Given the description of an element on the screen output the (x, y) to click on. 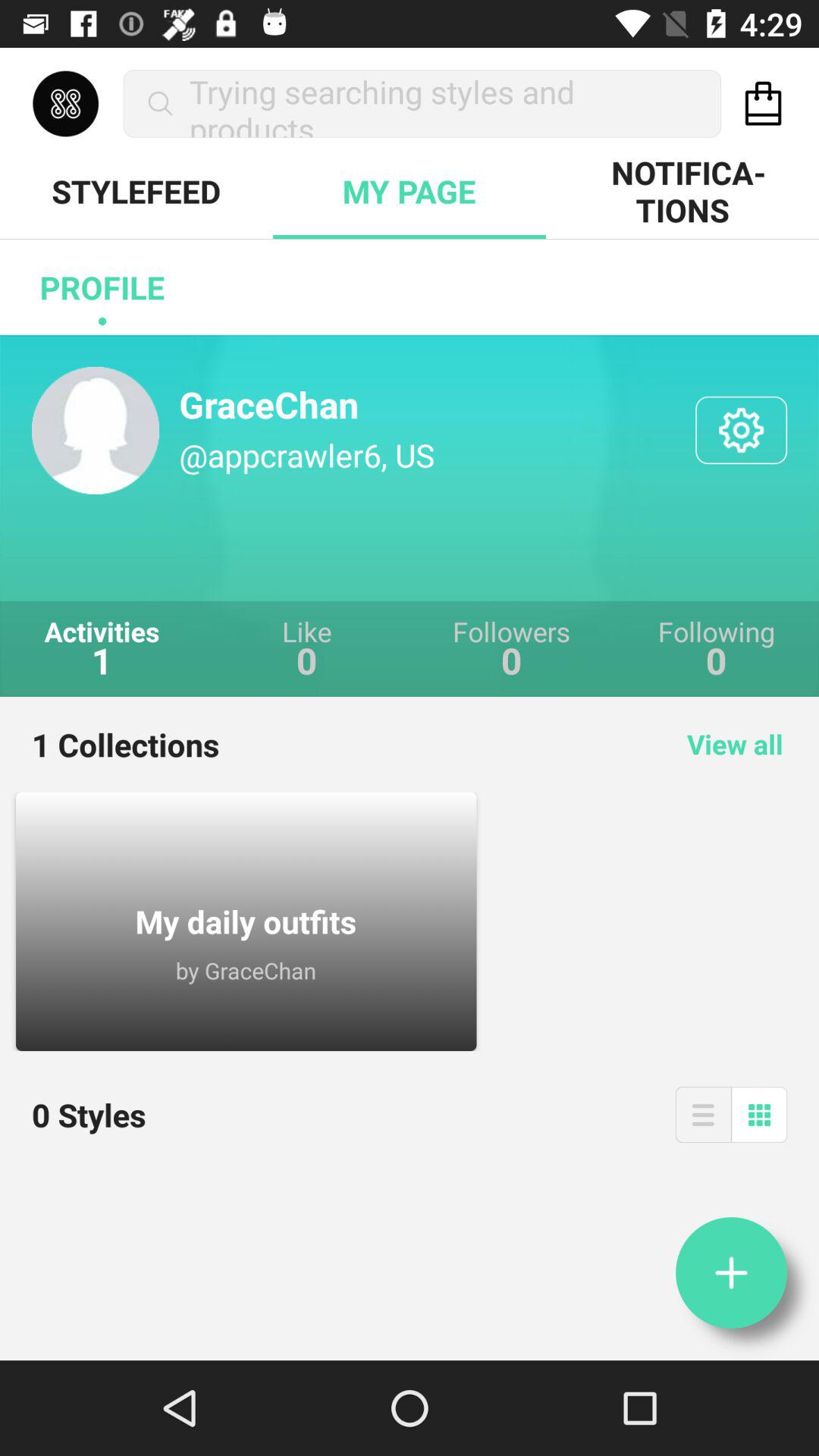
add app (731, 1272)
